Given the description of an element on the screen output the (x, y) to click on. 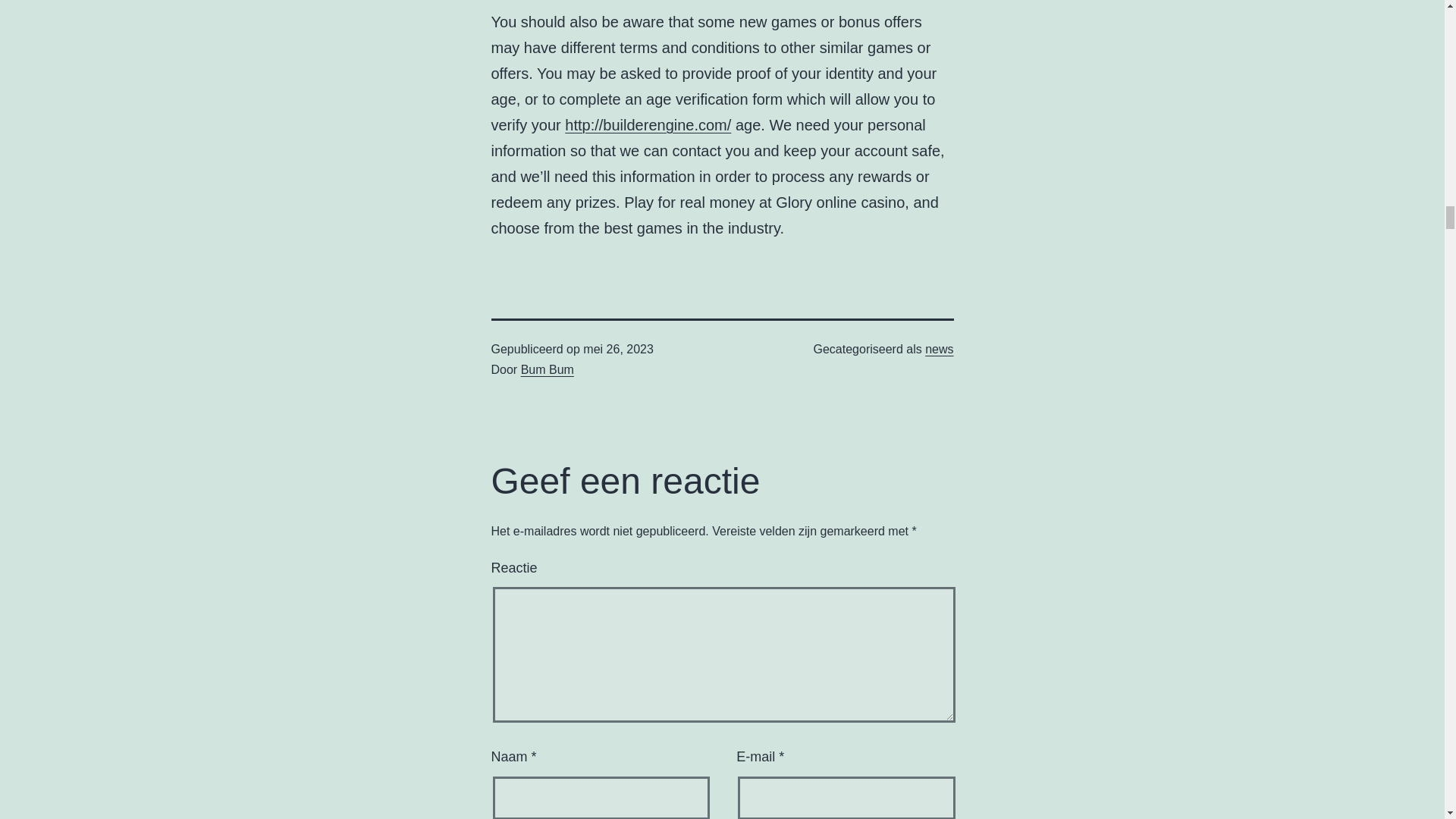
news (938, 349)
Bum Bum (547, 369)
